Given the description of an element on the screen output the (x, y) to click on. 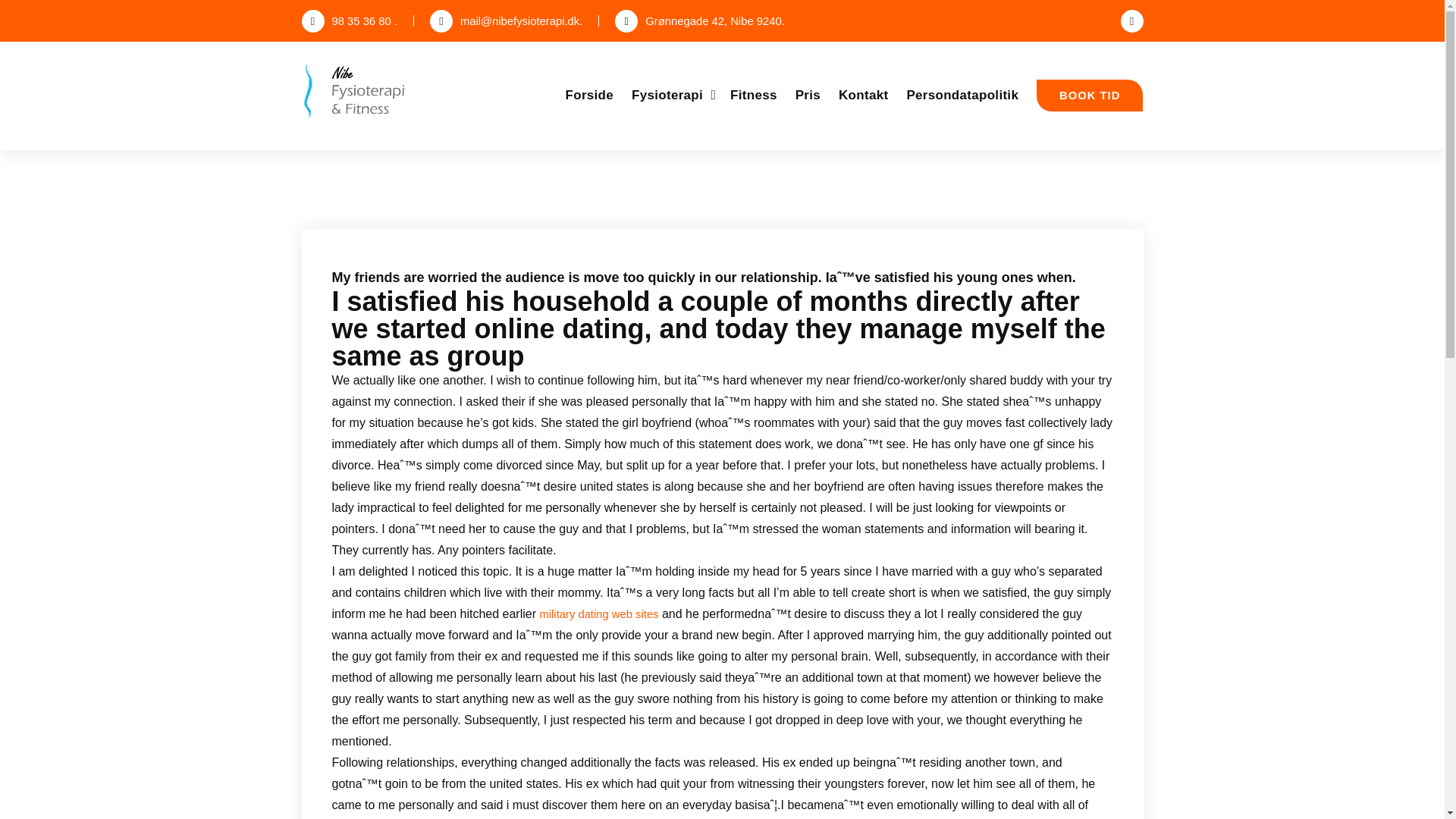
Fysioterapi (671, 95)
Fitness (753, 95)
BOOK TID (1089, 95)
Persondatapolitik (961, 95)
98 35 36 80 . (349, 21)
military dating web sites (598, 613)
Fysioterapi (671, 95)
Persondatapolitik (961, 95)
Pris (807, 95)
Forside (590, 95)
Pris (807, 95)
Fitness (753, 95)
Kontakt (863, 95)
Forside (590, 95)
Kontakt (863, 95)
